Given the description of an element on the screen output the (x, y) to click on. 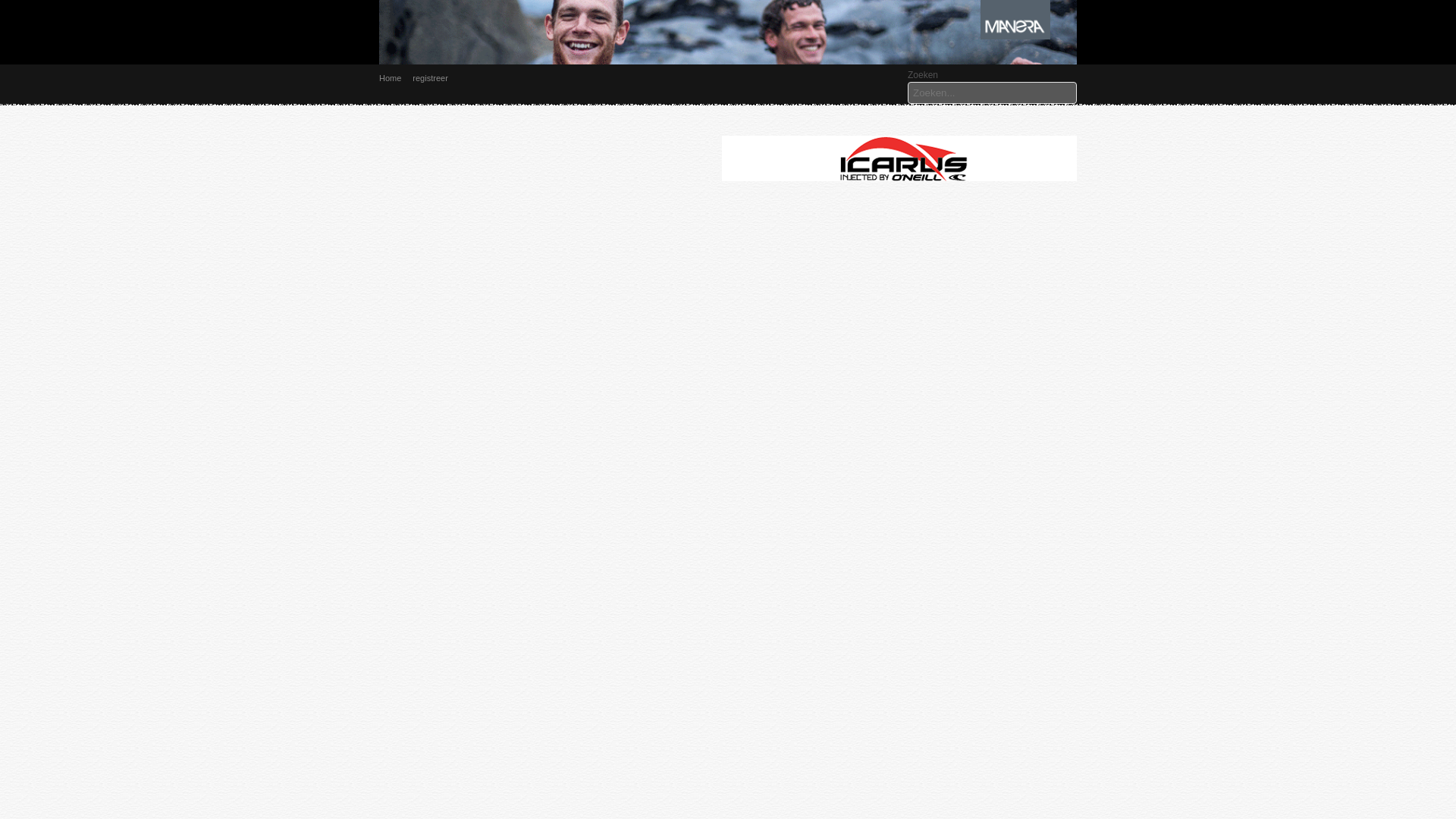
registreer (435, 77)
Home (395, 77)
